Given the description of an element on the screen output the (x, y) to click on. 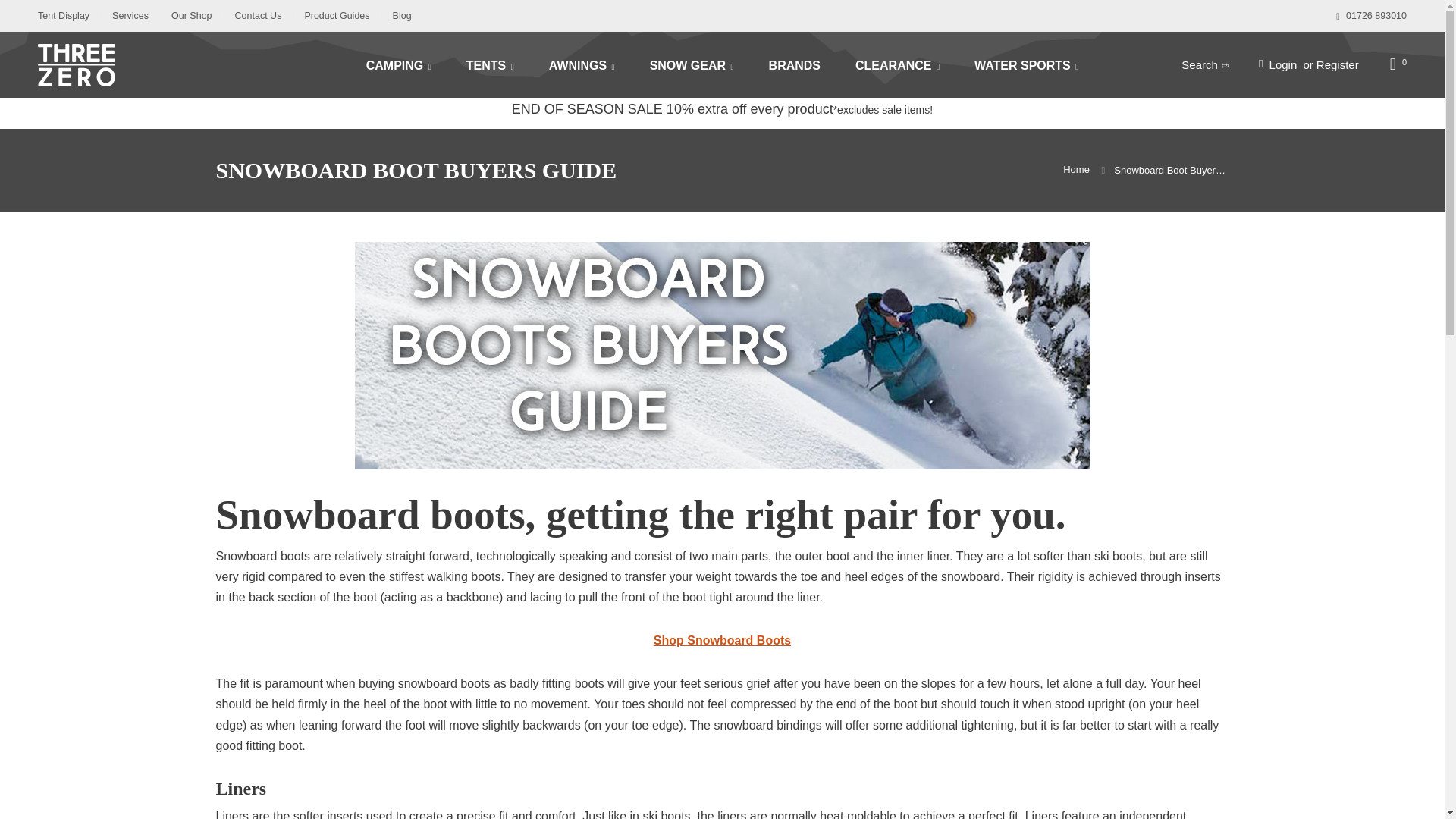
Contact Us (258, 15)
Three Zero Logo (193, 64)
CAMPING (398, 64)
Tent Display (62, 15)
Services (130, 15)
 01726 893010 (1371, 15)
Product Guides (336, 15)
Our Shop (191, 15)
Blog (402, 15)
Go to Home Page (1075, 169)
